Given the description of an element on the screen output the (x, y) to click on. 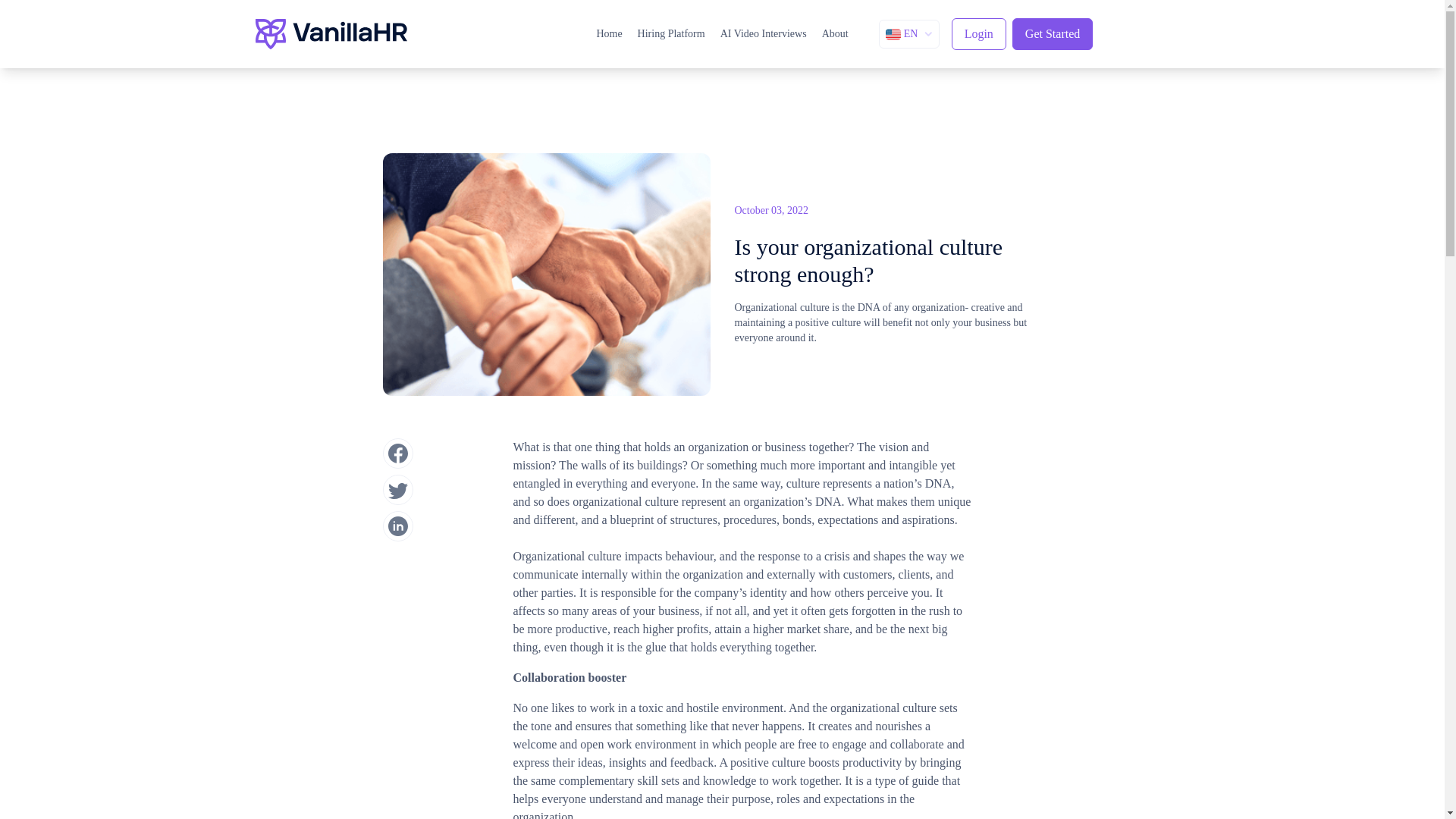
Hiring Platform (670, 33)
VanillaHR (330, 33)
Get Started (1052, 33)
Share on LinkedIn (396, 526)
Tweet (396, 490)
About (835, 33)
Share on Facebook (396, 453)
Home (608, 33)
Login (979, 33)
AI Video Interviews (763, 33)
EN (909, 33)
